Given the description of an element on the screen output the (x, y) to click on. 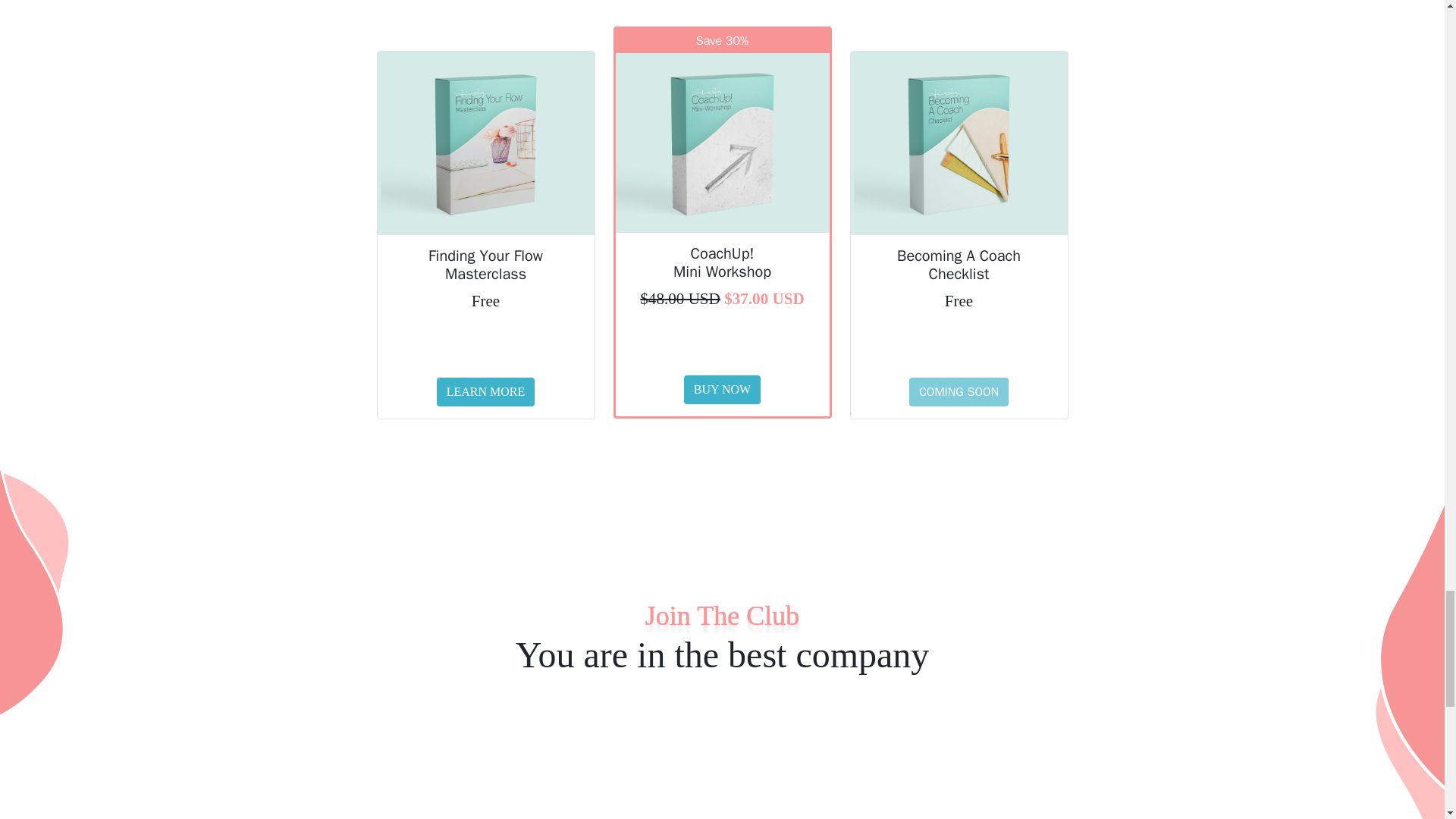
LEARN MORE (485, 391)
BUY NOW (722, 389)
COMING SOON (958, 391)
